Given the description of an element on the screen output the (x, y) to click on. 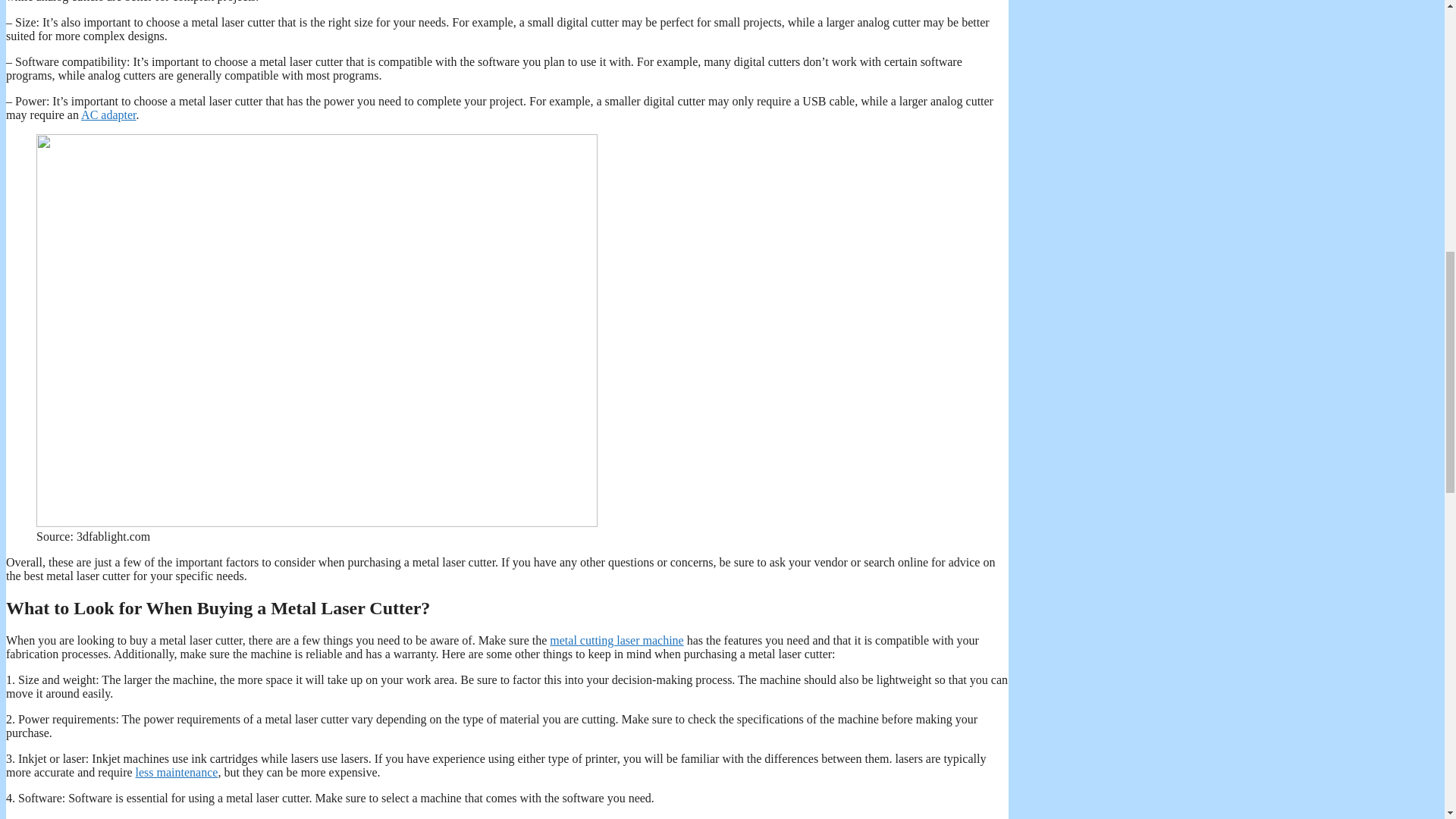
AC adapter (108, 114)
less maintenance (176, 771)
metal cutting laser machine (616, 640)
